Given the description of an element on the screen output the (x, y) to click on. 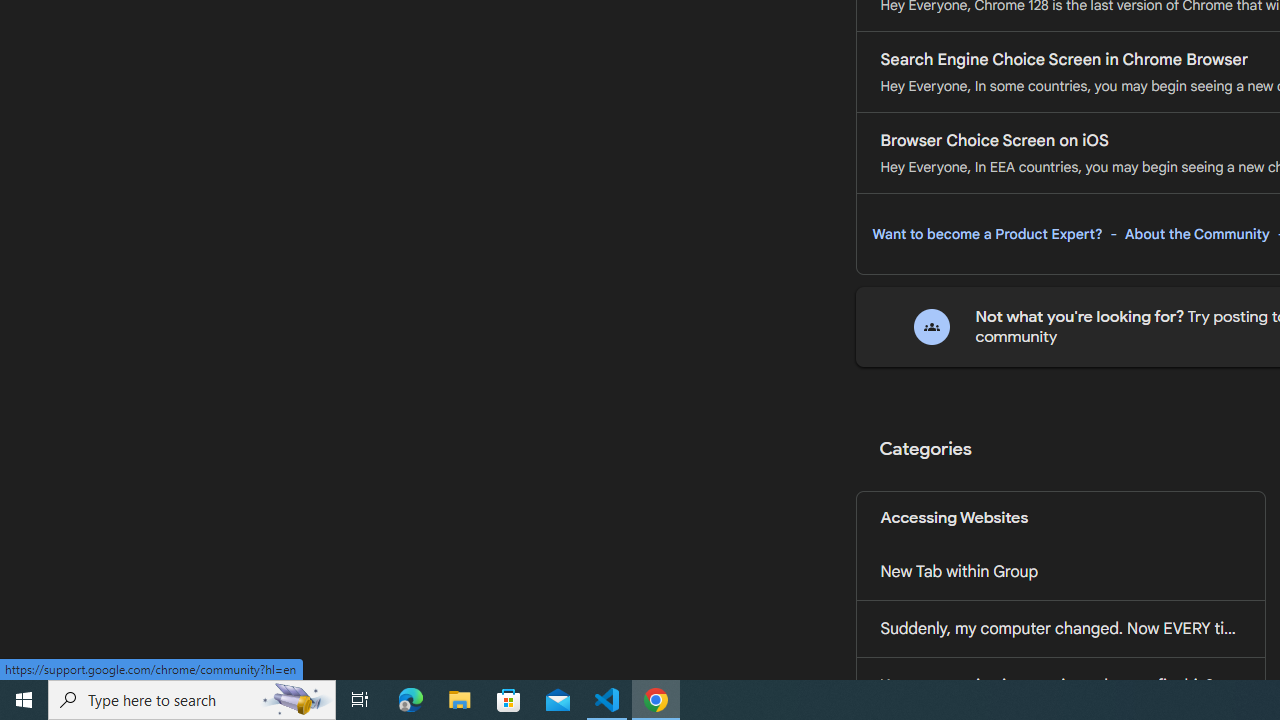
About the Community (1197, 233)
Want to become a Product Expert? (987, 233)
